Given the description of an element on the screen output the (x, y) to click on. 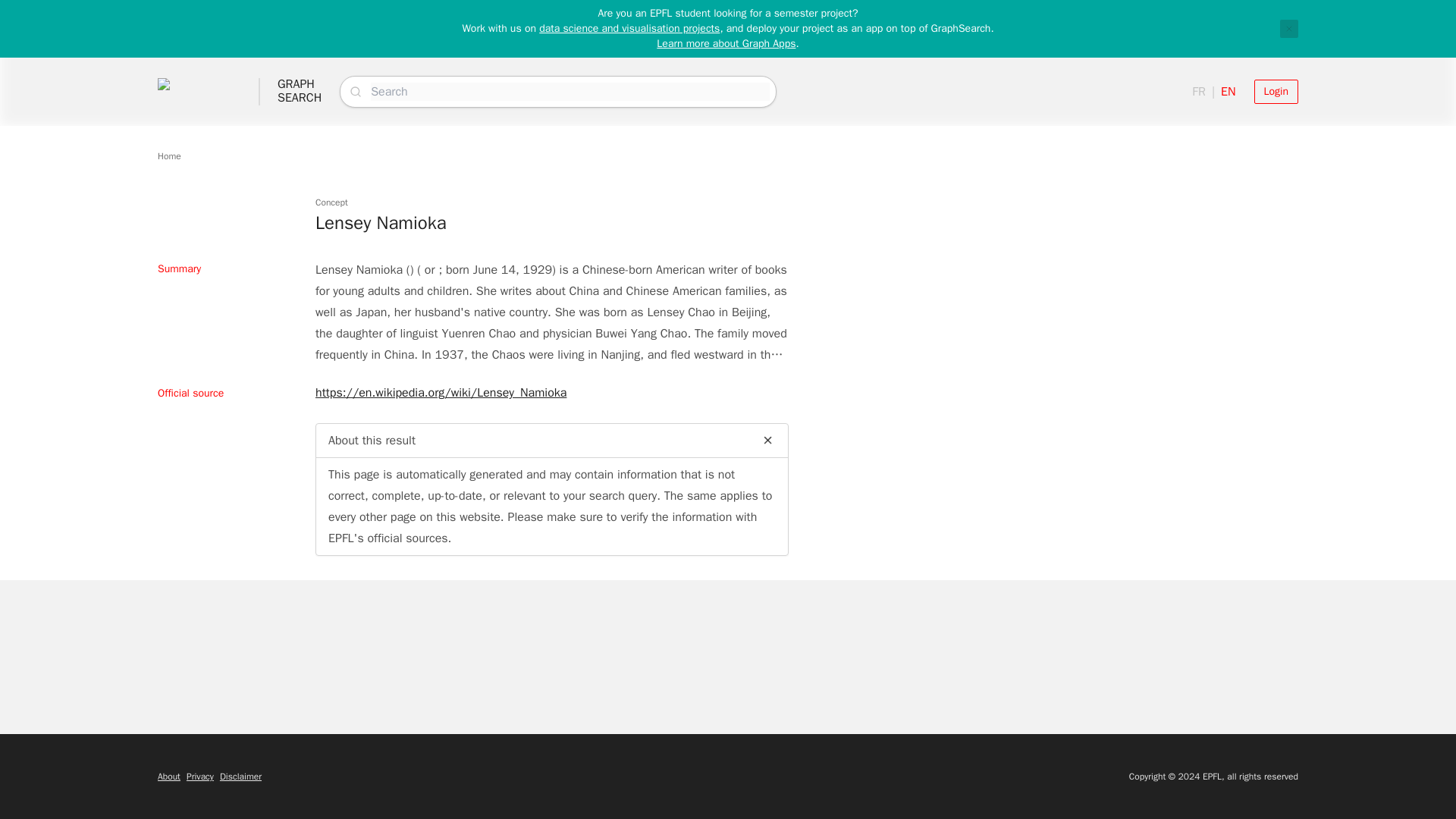
data science and visualisation projects (628, 28)
Login (1275, 91)
EN (1228, 91)
Learn more about Graph Apps (299, 90)
Close notification (725, 42)
About (1288, 28)
Privacy (168, 776)
FR (200, 776)
Disclaimer (1198, 91)
Home (240, 776)
